Given the description of an element on the screen output the (x, y) to click on. 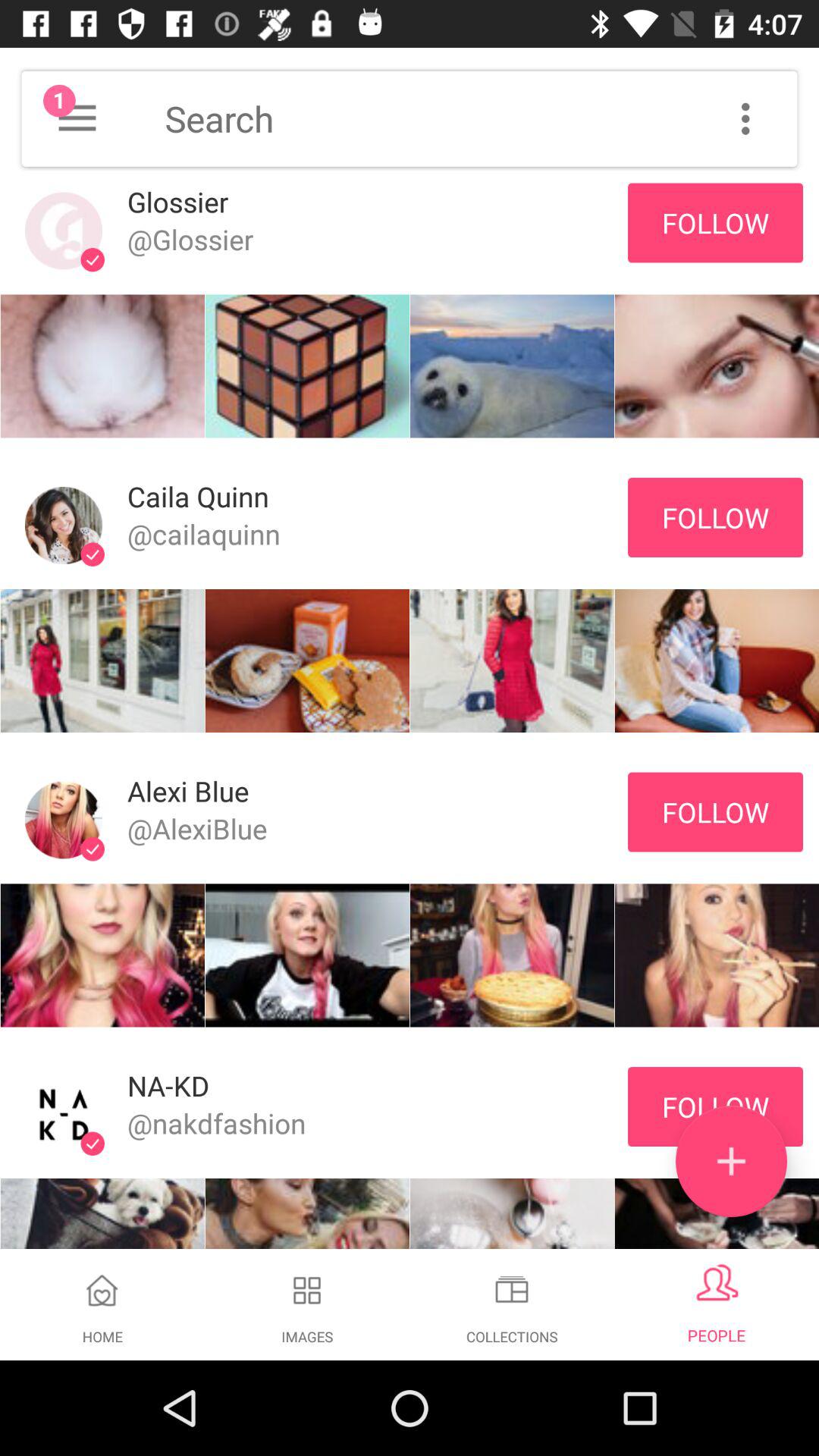
add post (731, 1161)
